Given the description of an element on the screen output the (x, y) to click on. 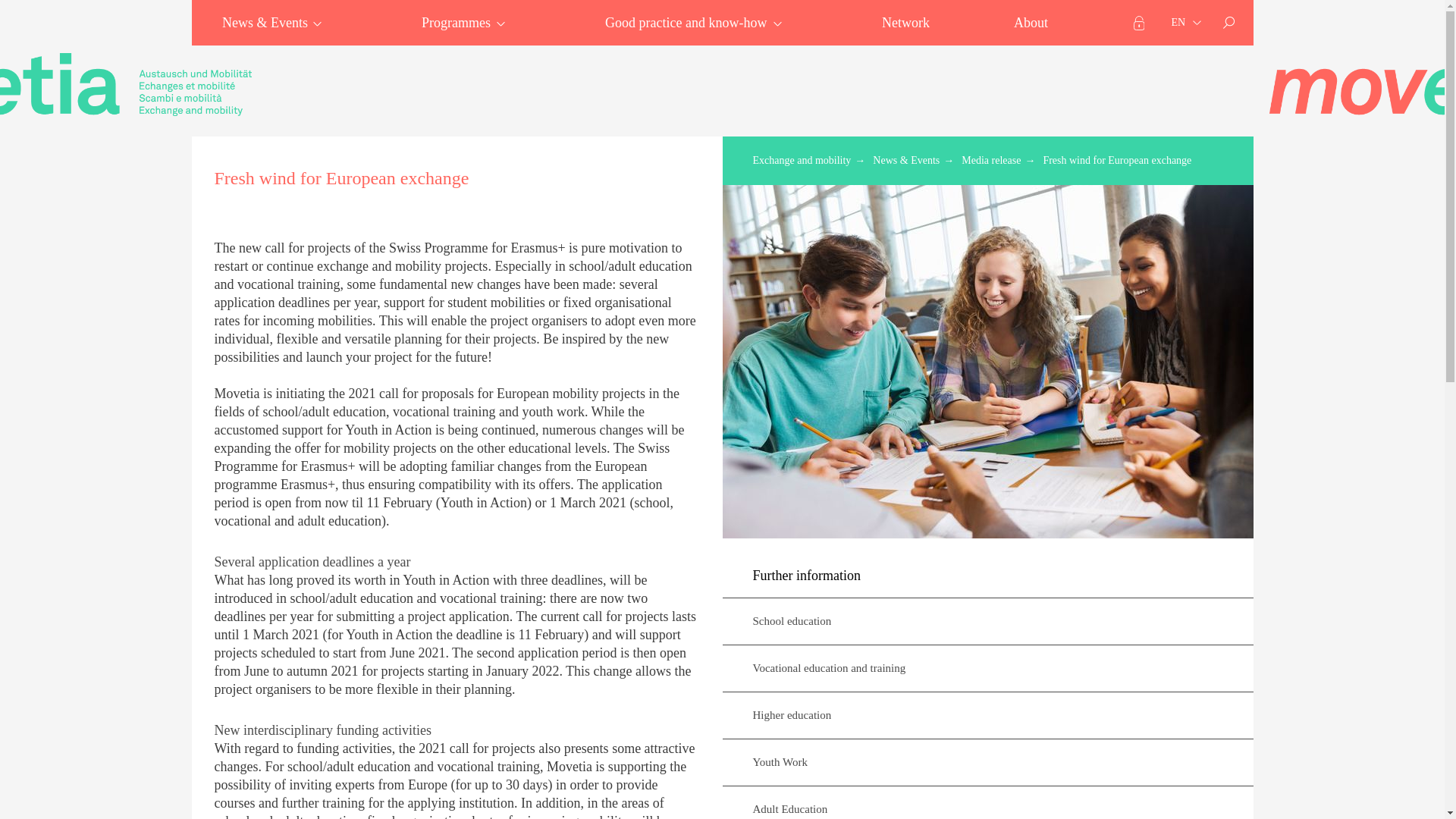
Programmes (459, 22)
Exchange and mobility (125, 84)
